Given the description of an element on the screen output the (x, y) to click on. 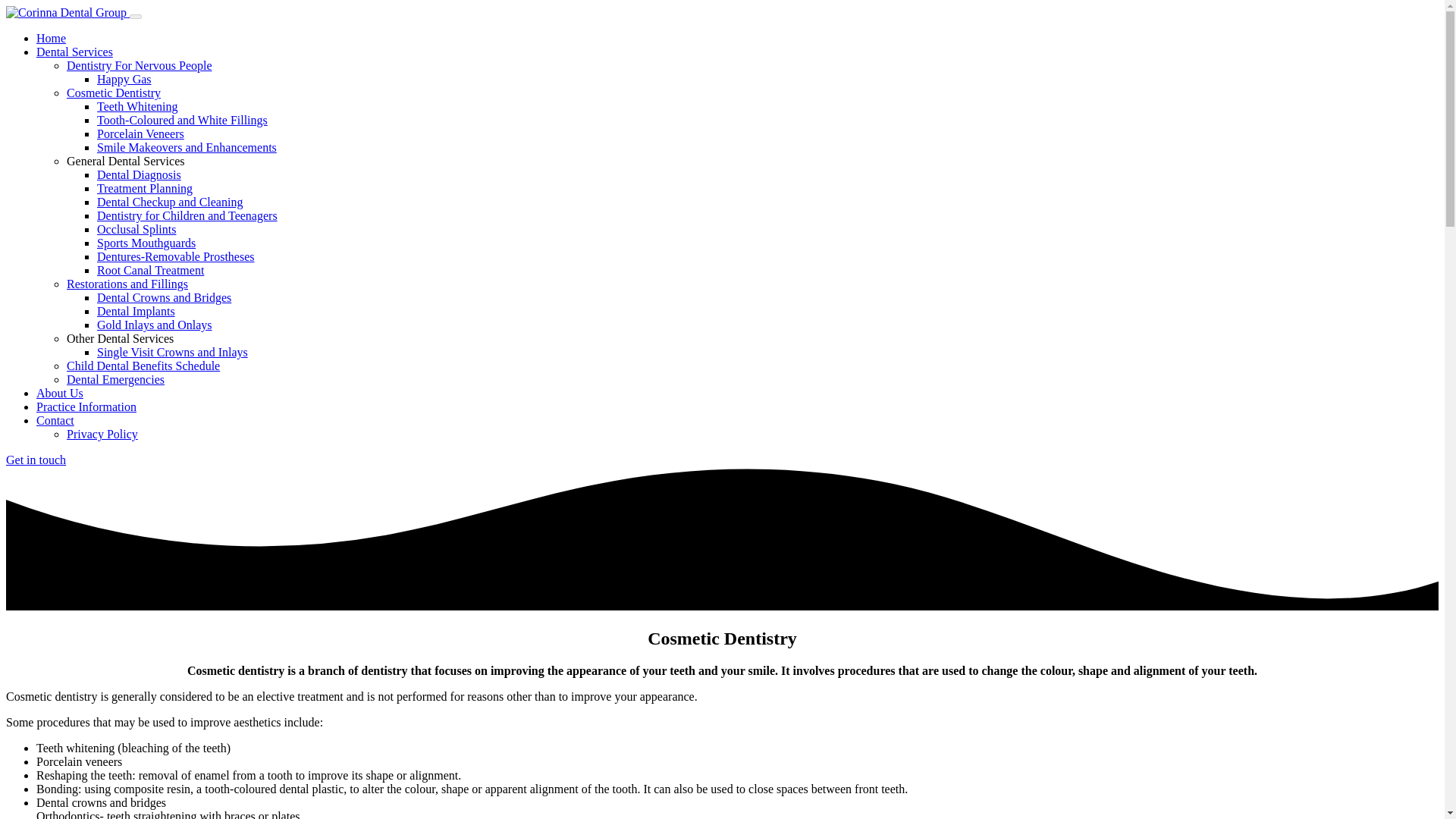
Treatment Planning (144, 187)
About Us (59, 392)
Single Visit Crowns and Inlays (172, 351)
Contact (55, 420)
Dentistry for Children and Teenagers (187, 215)
Dental Checkup and Cleaning (170, 201)
Sports Mouthguards (146, 242)
Porcelain Veneers (140, 133)
Privacy Policy (102, 433)
Practice Information (86, 406)
